Given the description of an element on the screen output the (x, y) to click on. 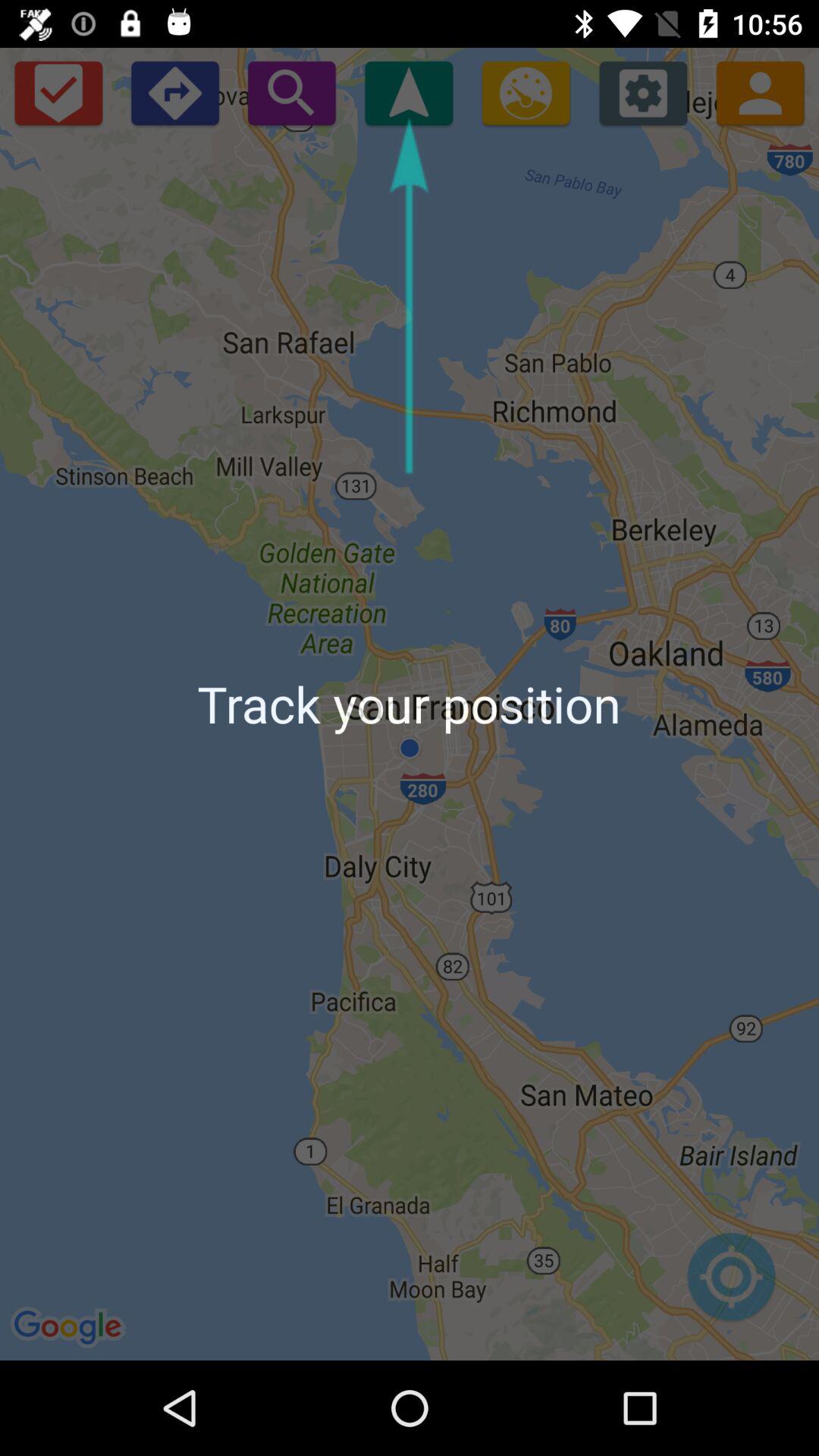
open settings (642, 92)
